Given the description of an element on the screen output the (x, y) to click on. 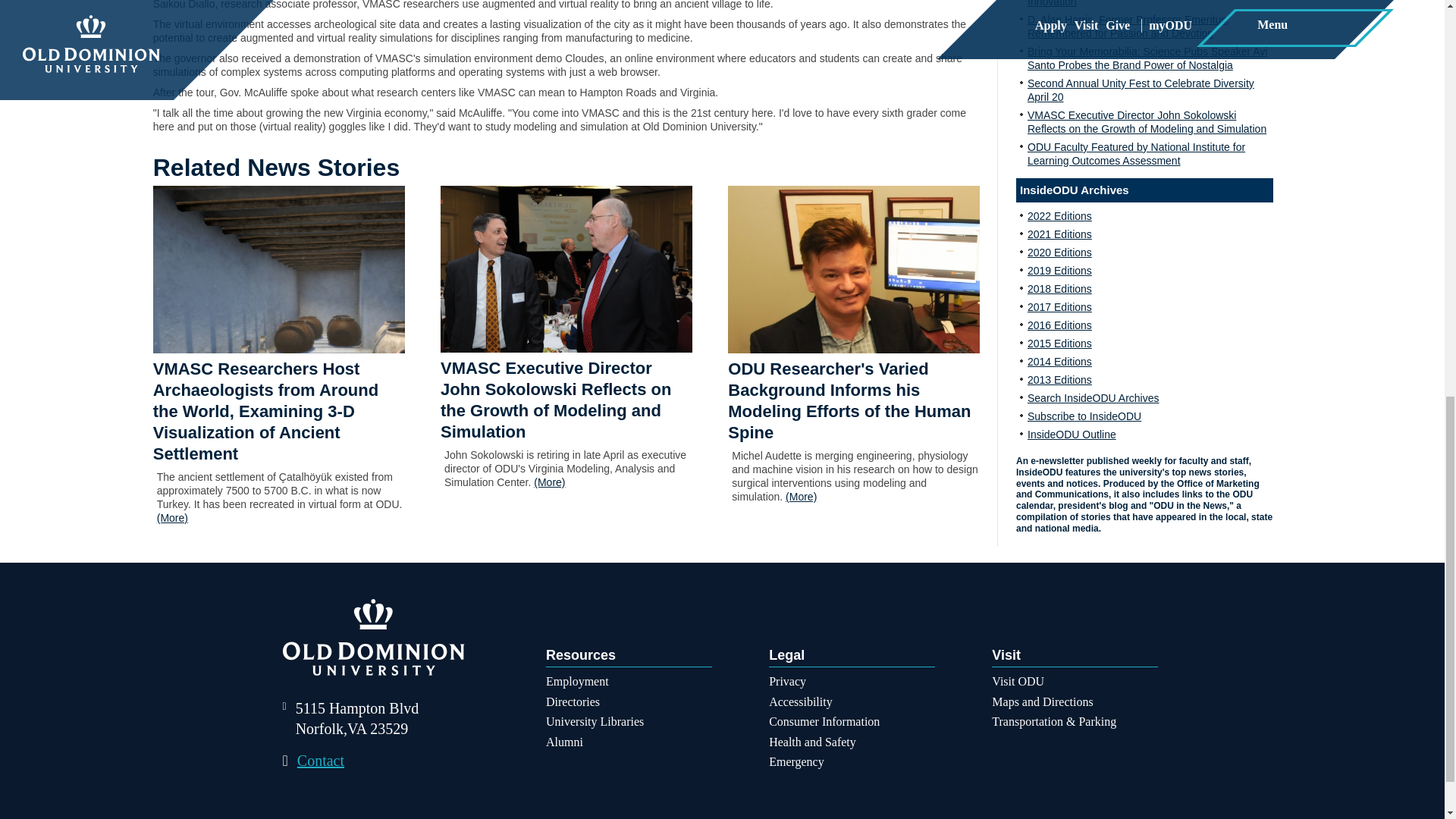
Michel Audette (853, 268)
religion project 1 (278, 268)
ODU Company Expo to Showcase Student Innovation (1128, 3)
Second Annual Unity Fest to Celebrate Diversity April 20 (1140, 89)
ODU Company Expo to Showcase Student Innovation (1128, 3)
Hampton Roads Economics Forecast (567, 268)
2022 Editions (1059, 215)
